Given the description of an element on the screen output the (x, y) to click on. 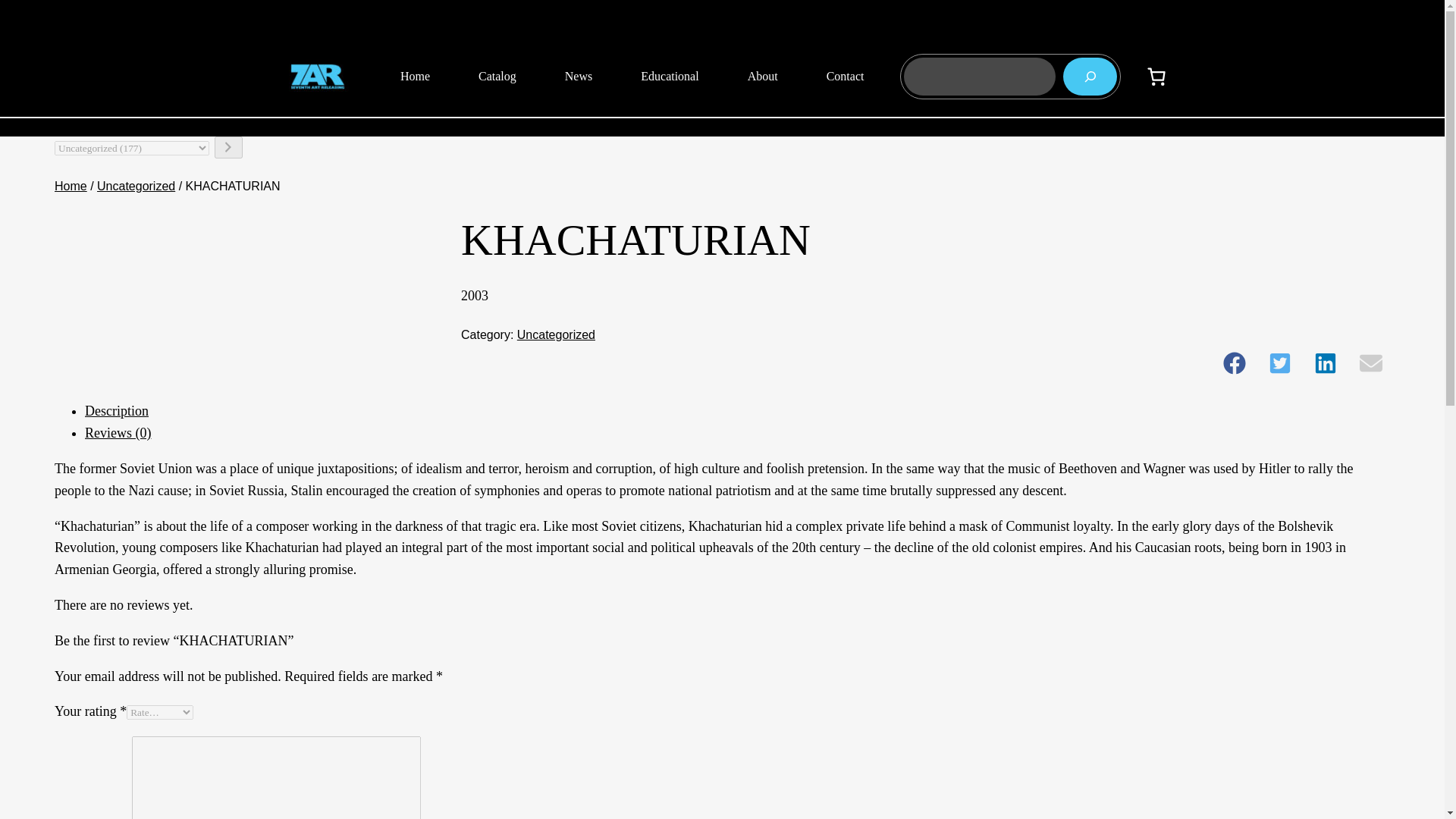
Description (116, 410)
Educational (669, 76)
Uncategorized (555, 334)
Uncategorized (135, 185)
Home (71, 185)
Catalog (496, 76)
Contact (844, 76)
News (578, 76)
About (762, 76)
Home (415, 76)
